Given the description of an element on the screen output the (x, y) to click on. 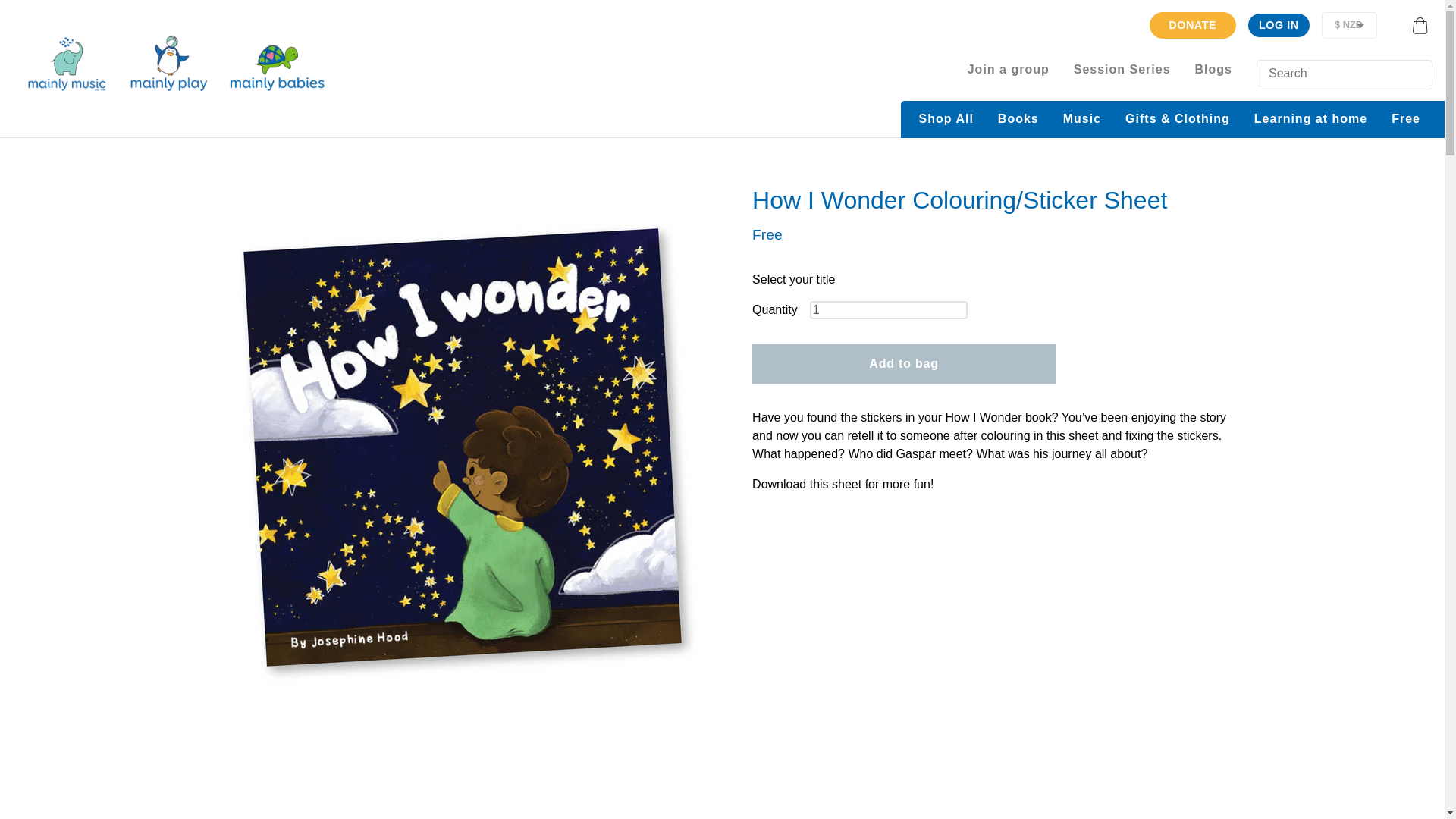
Add to bag (903, 363)
DONATE (1193, 25)
Learning at home (1309, 119)
Music (1082, 119)
Books (1018, 119)
1 (888, 310)
LOG IN (1277, 24)
Blogs (1213, 69)
Shop All (946, 119)
Session Series (1121, 69)
Join a group (1008, 69)
Free (1405, 119)
